Given the description of an element on the screen output the (x, y) to click on. 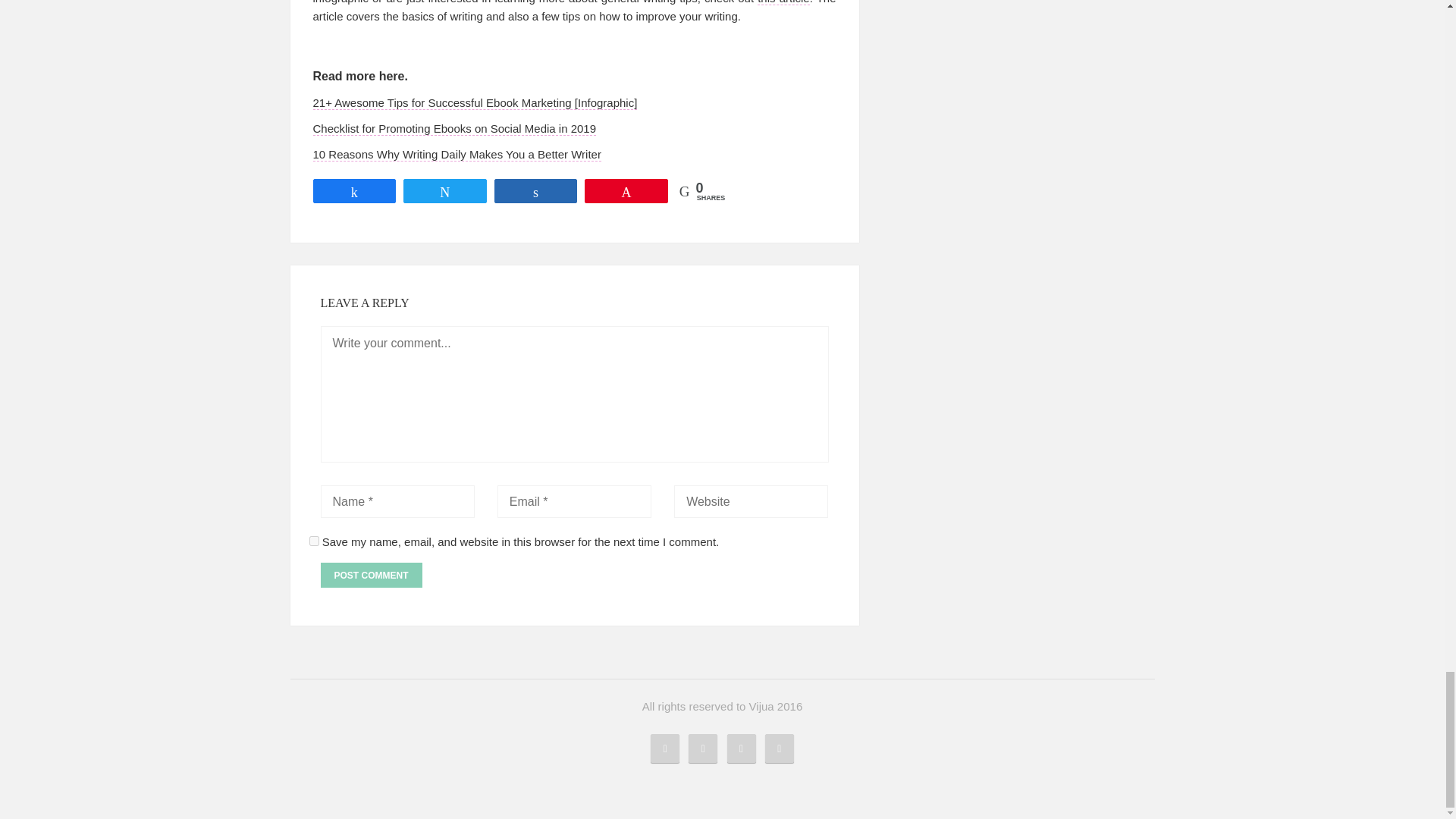
yes (313, 541)
Checklist for Promoting Ebooks on Social Media in 2019 (454, 128)
Post Comment (371, 575)
10 Reasons Why Writing Daily Makes You a Better Writer (456, 154)
this article (783, 2)
